Given the description of an element on the screen output the (x, y) to click on. 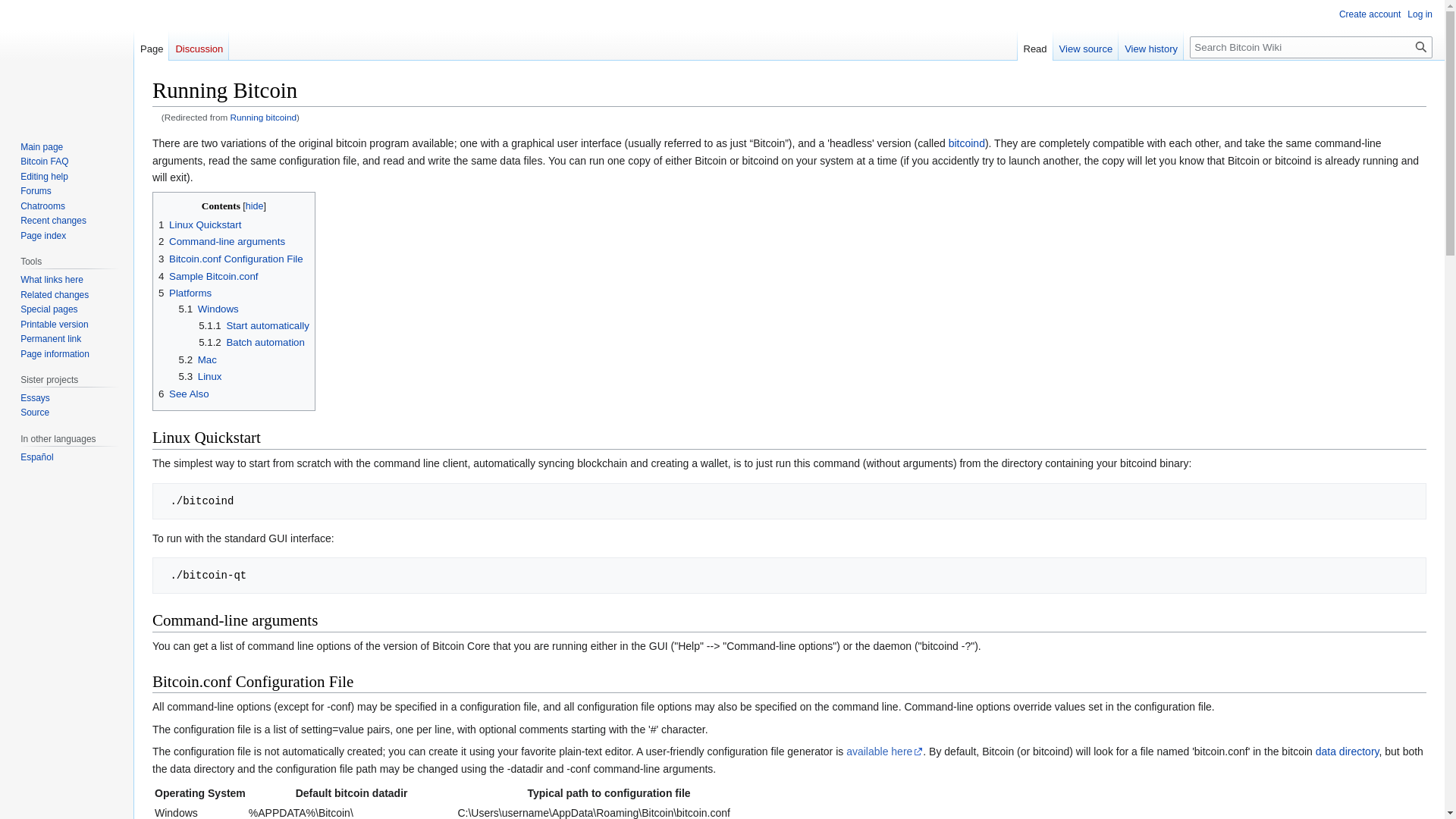
Bitcoind (967, 143)
Data directory (1347, 751)
4 Sample Bitcoin.conf (208, 276)
5.1 Windows (208, 308)
2 Command-line arguments (221, 241)
5.1.2 Batch automation (251, 342)
Go (1420, 46)
6 See Also (183, 393)
5.1.1 Start automatically (253, 325)
5 Platforms (184, 292)
1 Linux Quickstart (199, 224)
data directory (1347, 751)
Search (1420, 46)
Go (1420, 46)
3 Bitcoin.conf Configuration File (230, 258)
